Given the description of an element on the screen output the (x, y) to click on. 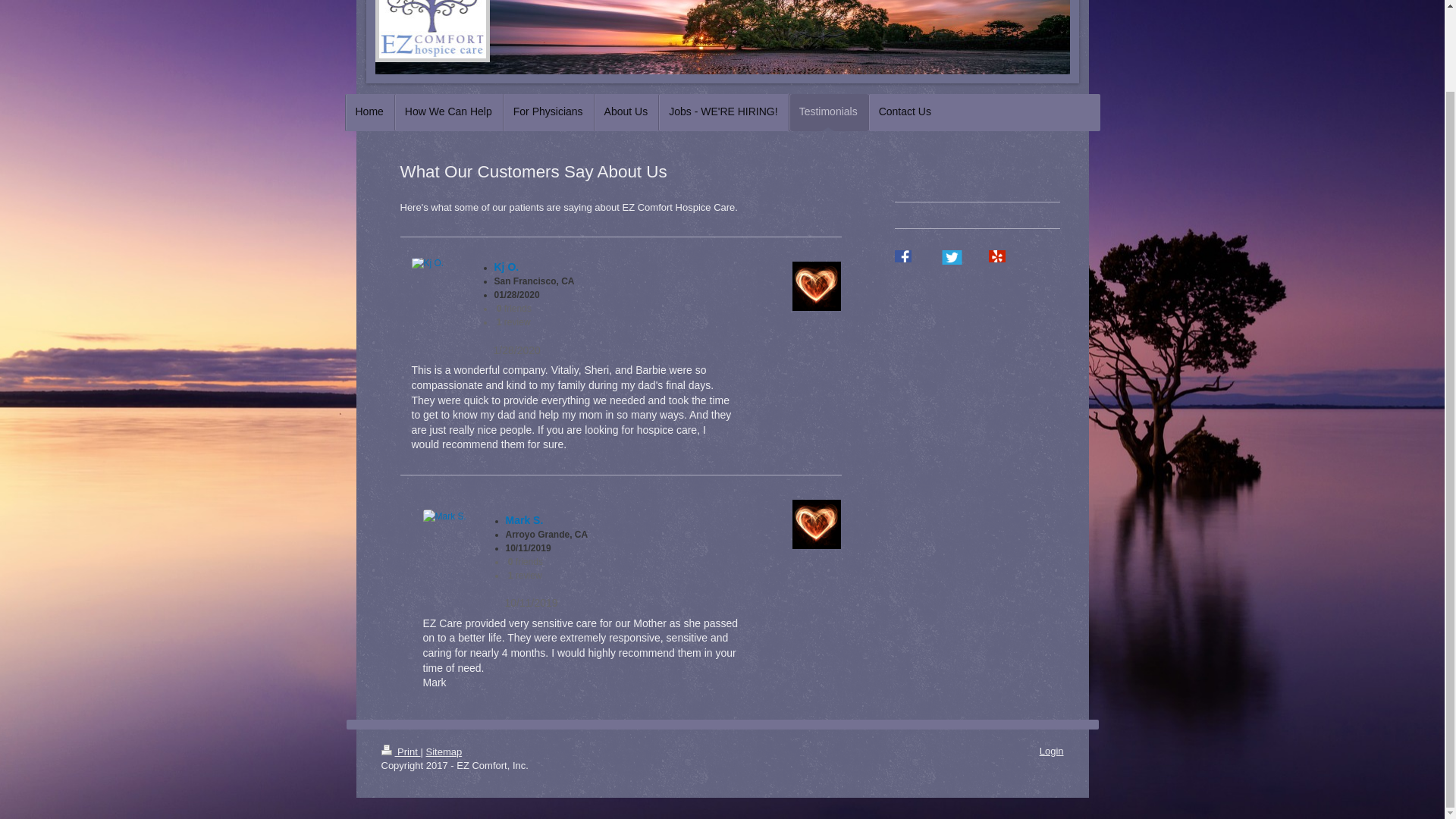
5.0 star rating (448, 349)
Contact Us (904, 112)
Jobs - WE'RE HIRING! (722, 112)
How We Can Help (448, 112)
About Us (626, 112)
Login (1051, 750)
5.0 star rating (461, 602)
Kj O. (507, 266)
Home (368, 112)
Print (400, 751)
